Given the description of an element on the screen output the (x, y) to click on. 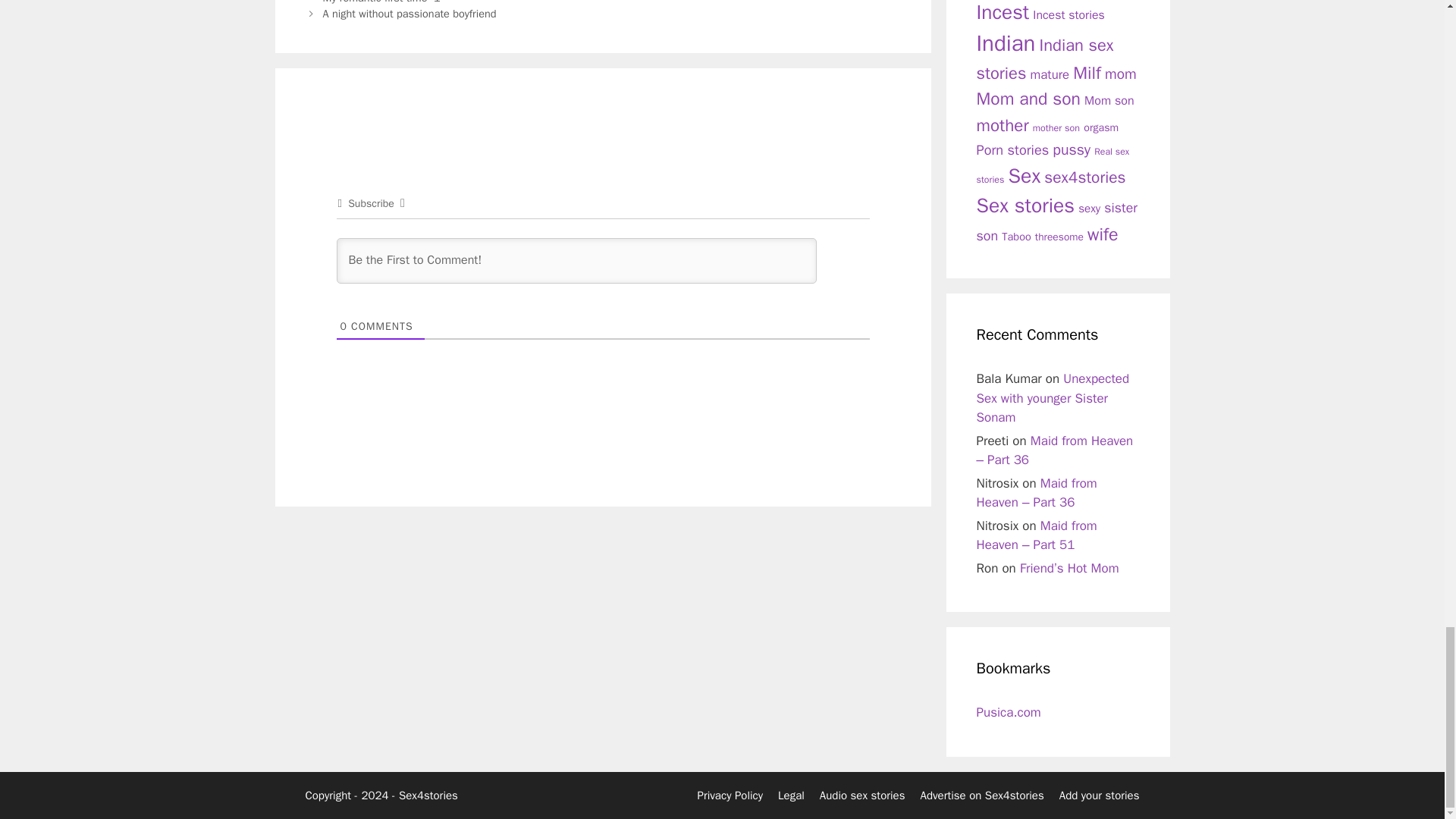
Erotic site (1008, 712)
